Given the description of an element on the screen output the (x, y) to click on. 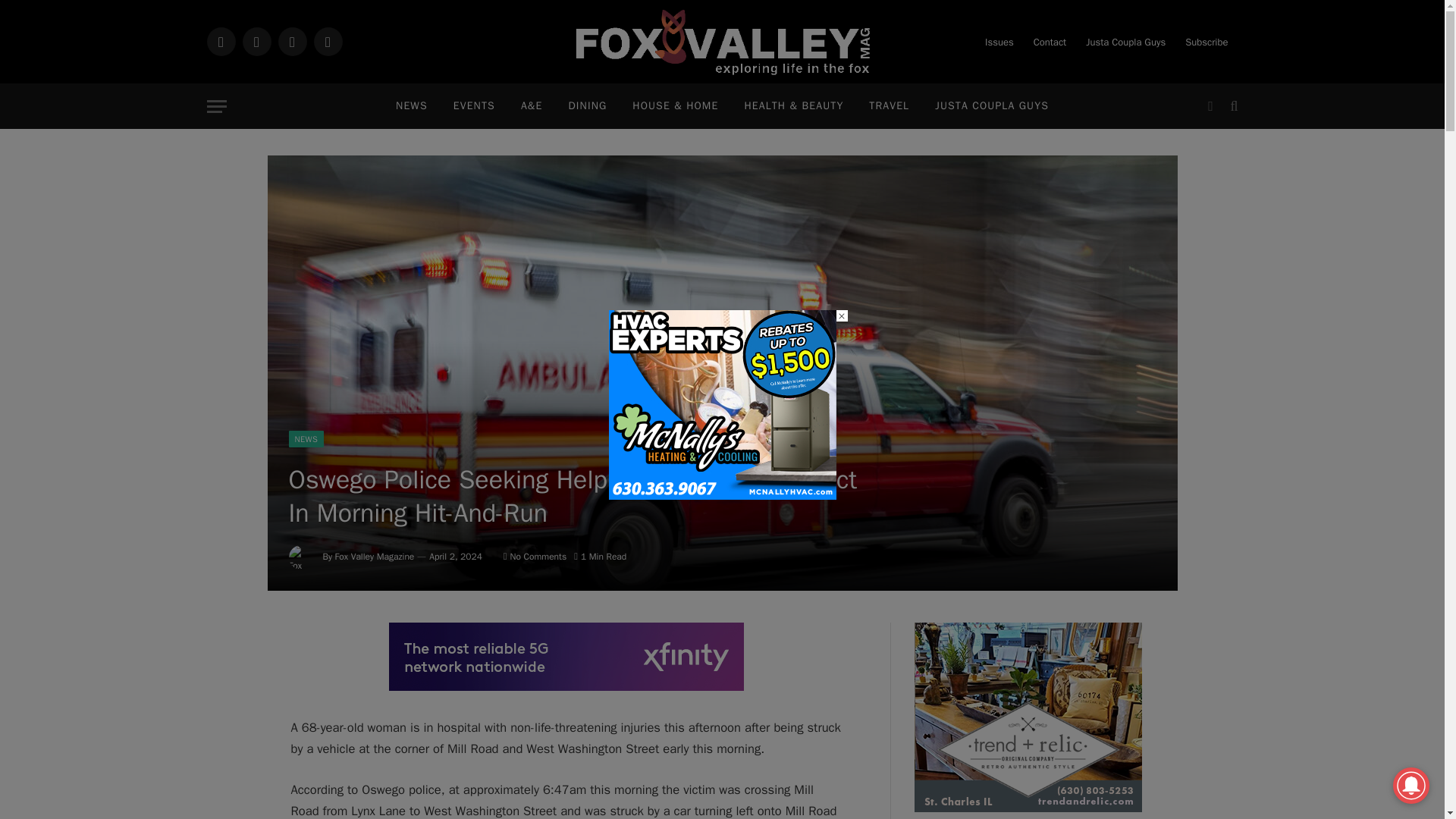
Justa Coupla Guys (1124, 41)
Facebook (220, 41)
EVENTS (474, 105)
Posts by Fox Valley Magazine (374, 556)
NEWS (305, 438)
Fox Valley Magazine (374, 556)
No Comments (534, 556)
DINING (587, 105)
YouTube (328, 41)
NEWS (411, 105)
JUSTA COUPLA GUYS (991, 105)
TRAVEL (888, 105)
Fox Valley Magazine (721, 41)
Instagram (291, 41)
